Given the description of an element on the screen output the (x, y) to click on. 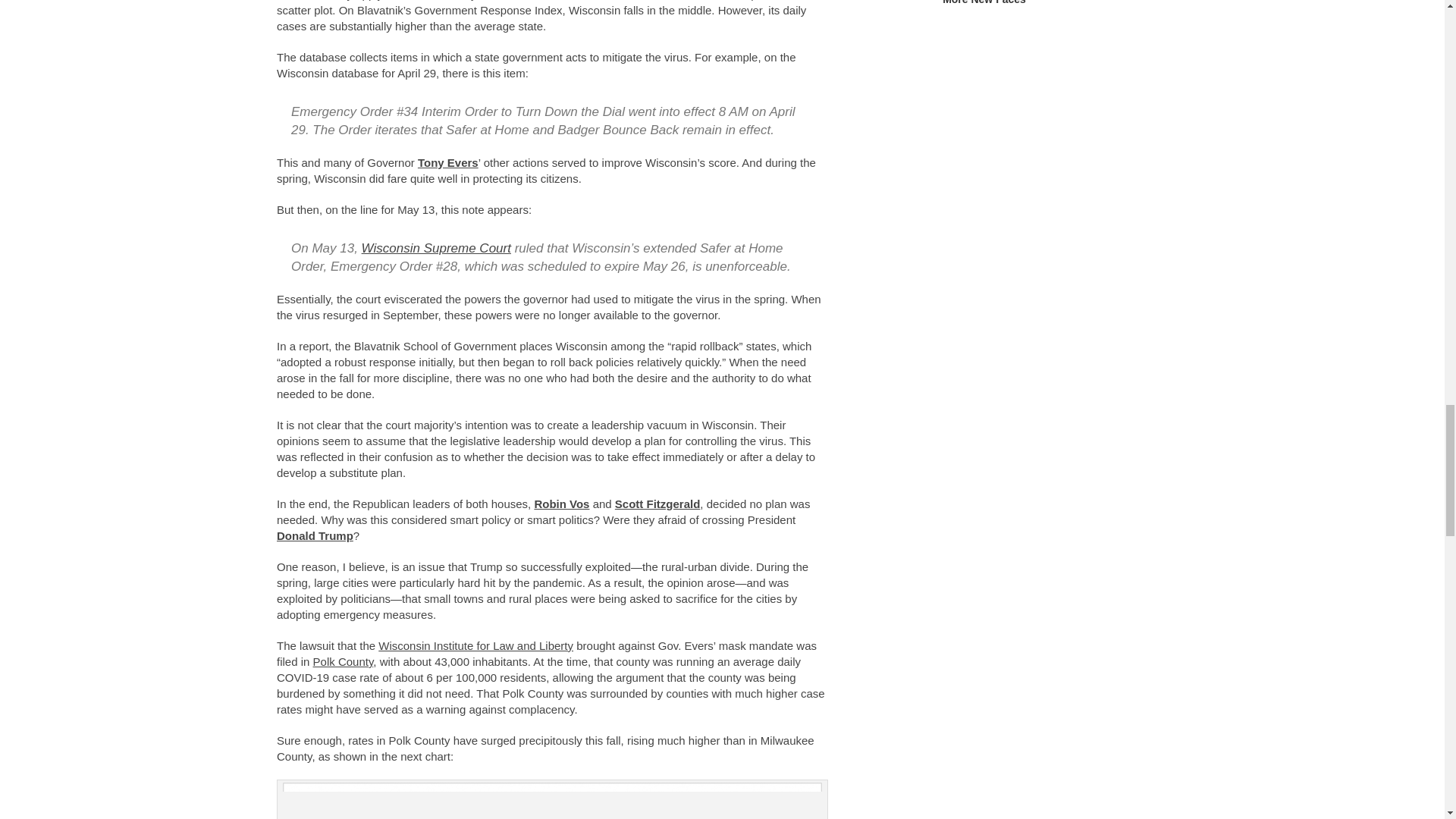
Wisconsin Supreme Court (436, 247)
Donald Trump (314, 535)
Robin Vos (561, 503)
Tony Evers (448, 162)
Scott Fitzgerald (657, 503)
Wisconsin Institute for Law and Liberty (475, 645)
